Given the description of an element on the screen output the (x, y) to click on. 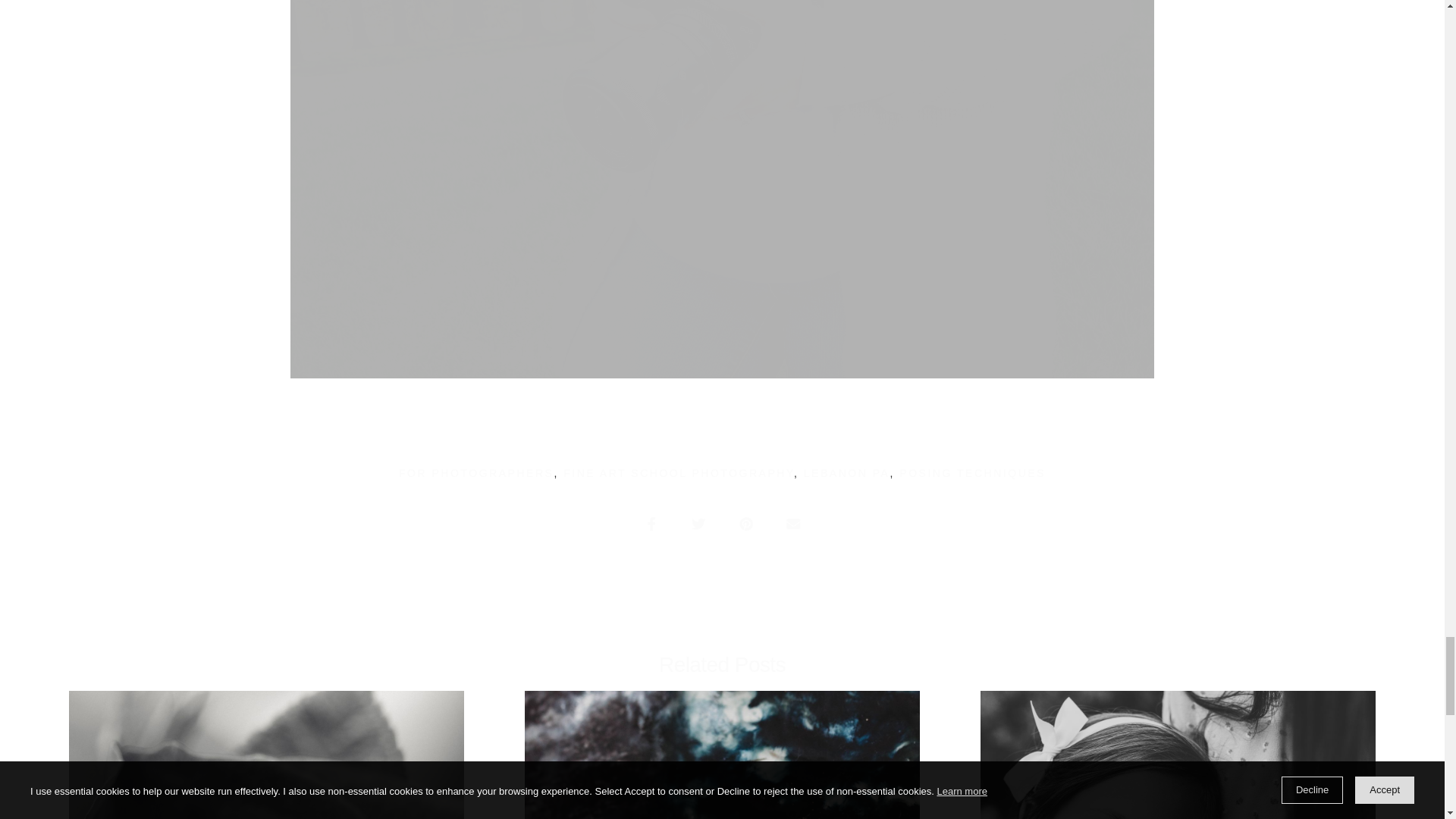
POSING TECHNIQUES (972, 472)
LEBANON PA (846, 472)
FOR PHOTOGRAPHERS (475, 472)
FINE ART SCHOOL PHOTOGRAPHY (678, 472)
